Given the description of an element on the screen output the (x, y) to click on. 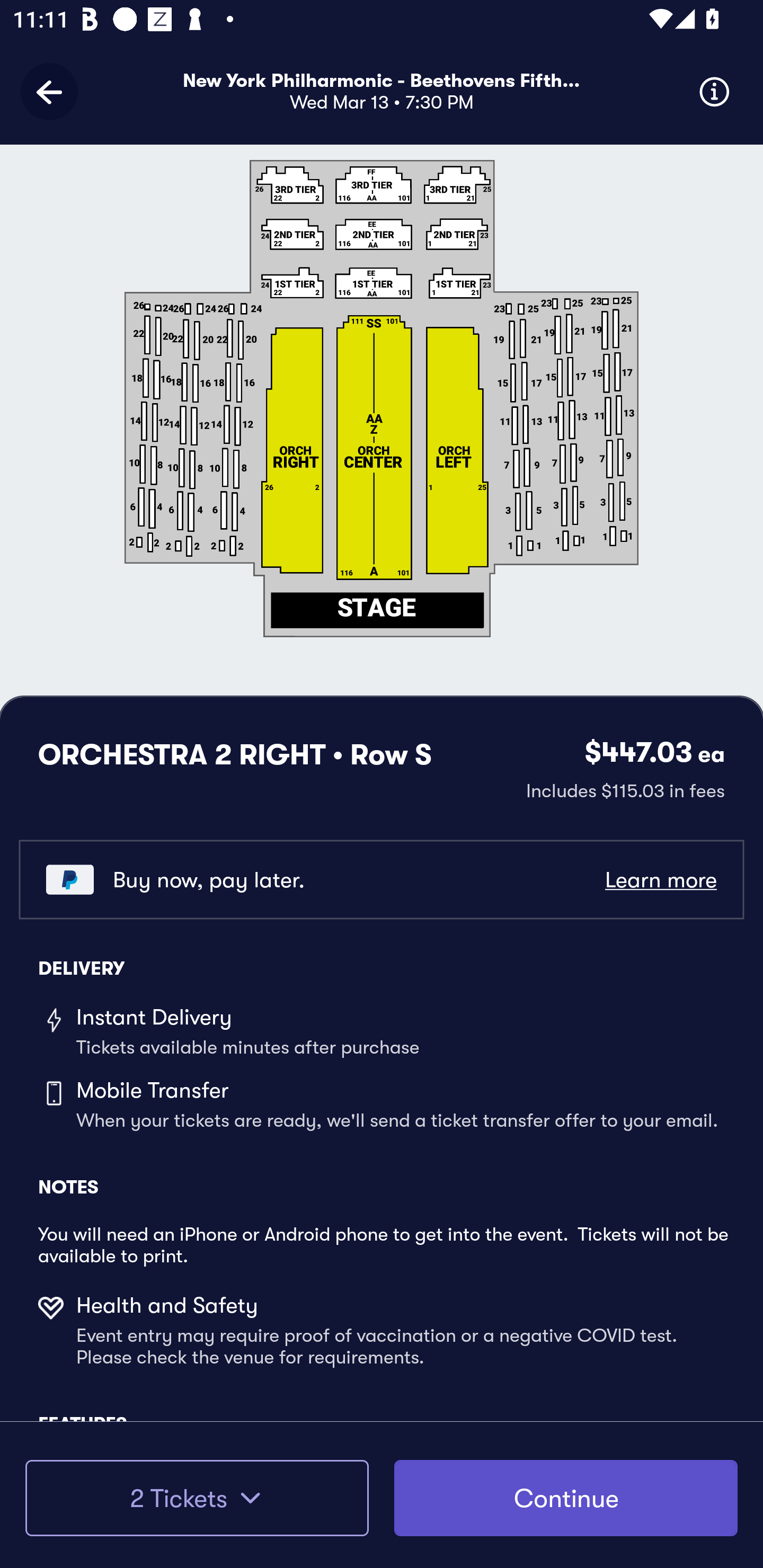
Learn more (660, 880)
2 Tickets (196, 1497)
Continue (565, 1497)
